Given the description of an element on the screen output the (x, y) to click on. 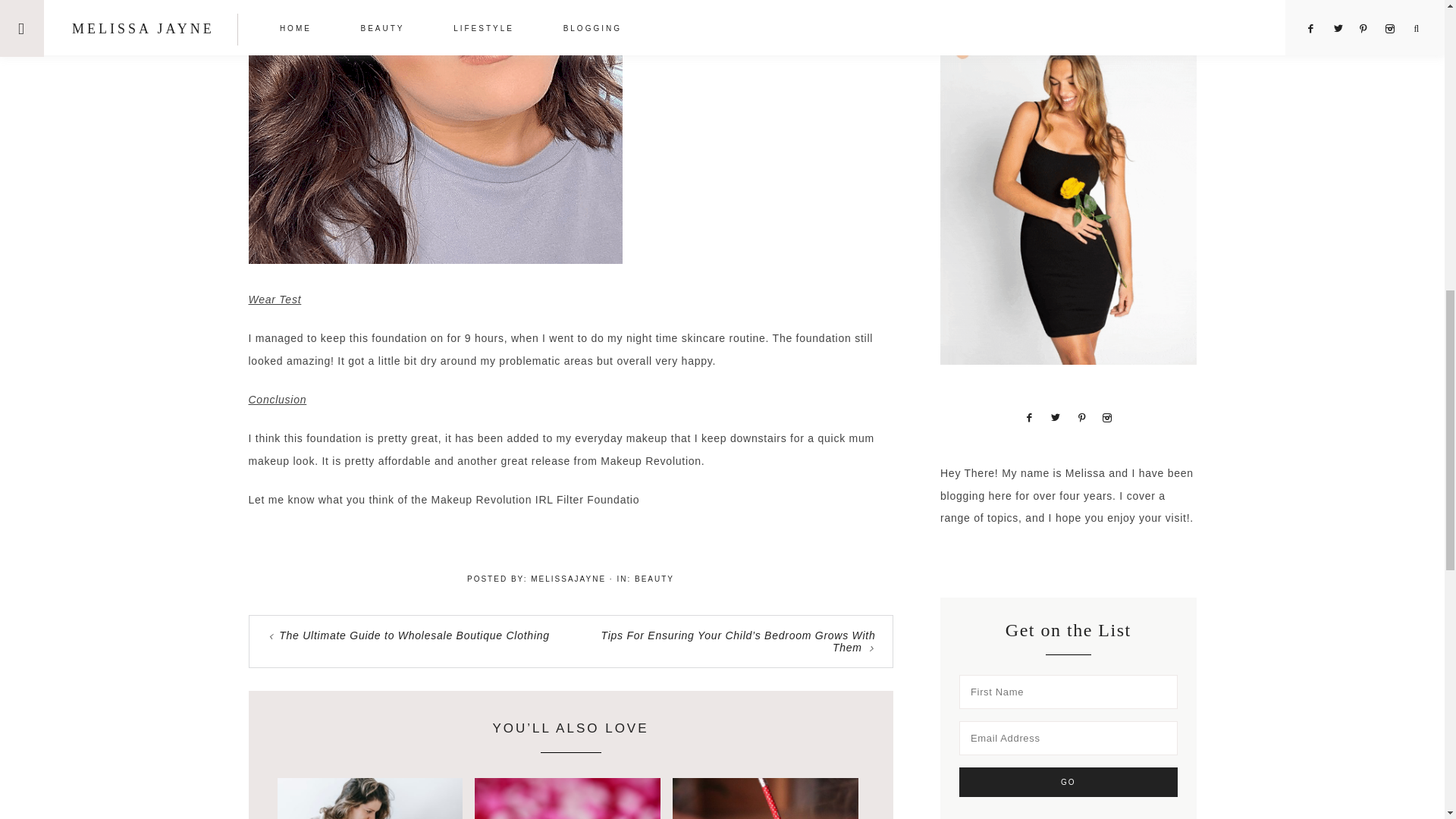
MELISSAJAYNE (568, 578)
BEAUTY (654, 578)
The Ultimate Guide to Wholesale Boutique Clothing (414, 635)
Go (1068, 781)
